Given the description of an element on the screen output the (x, y) to click on. 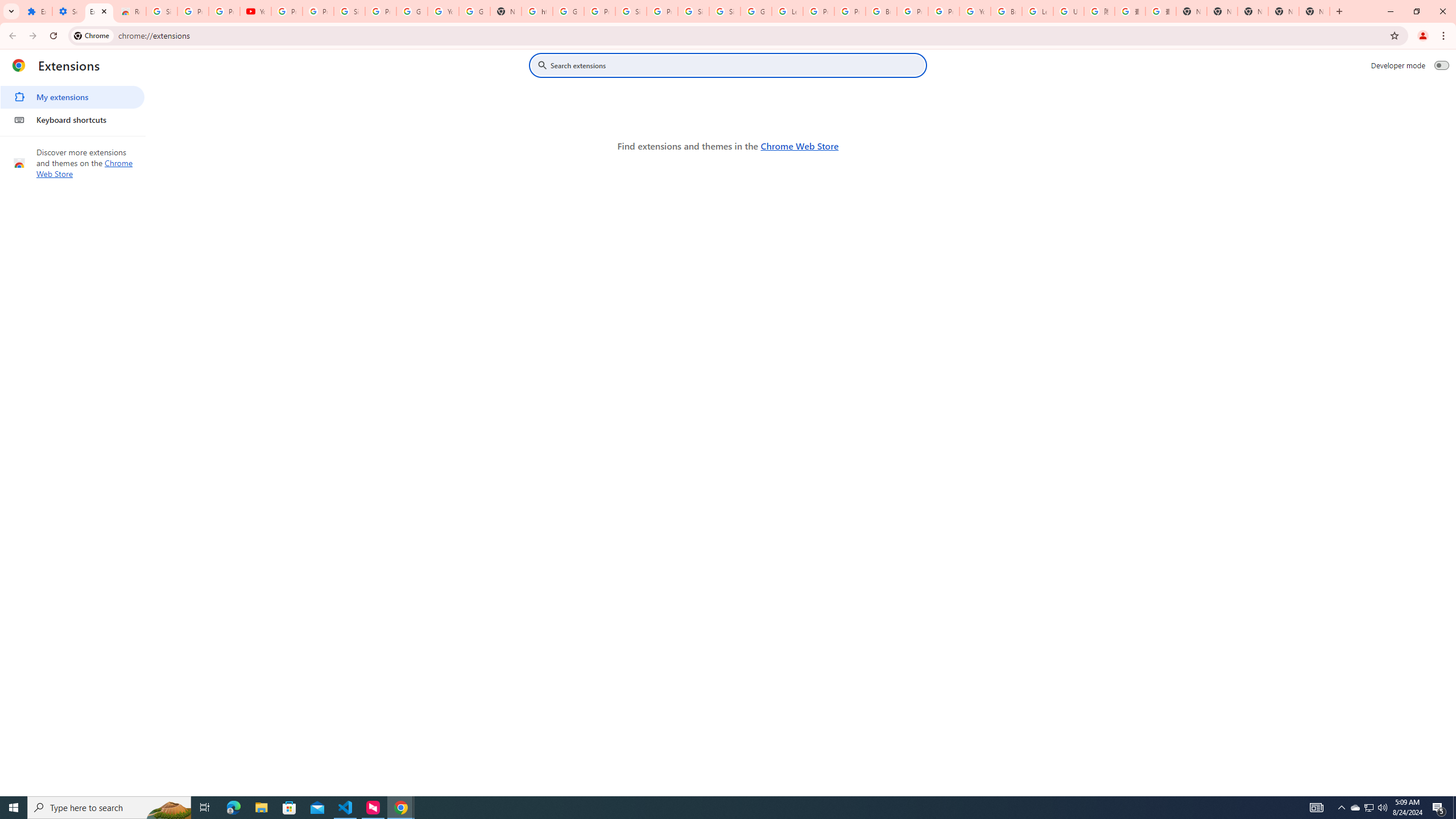
New Tab (1314, 11)
YouTube (974, 11)
Privacy Help Center - Policies Help (818, 11)
Chrome Web Store (799, 145)
Reviews: Helix Fruit Jump Arcade Game (130, 11)
